Given the description of an element on the screen output the (x, y) to click on. 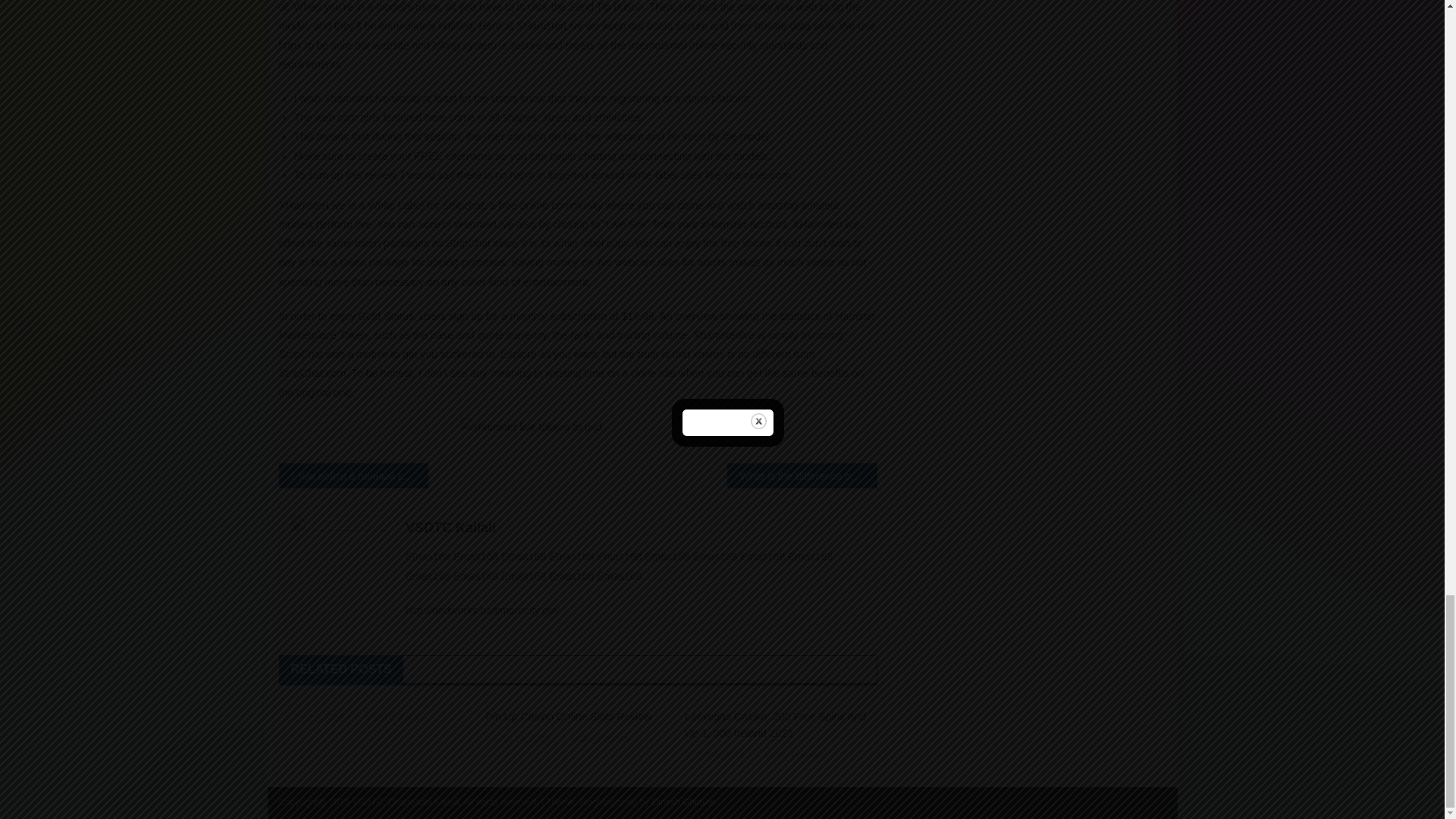
Emas168 (571, 576)
Emas168 (761, 556)
VSDTC Kailali (635, 527)
Emas168 (523, 576)
Emas168 (714, 556)
Emas168 (523, 556)
Emas168 (427, 556)
Emas168 (474, 576)
Emas168 (571, 556)
Emas168 (427, 576)
